Given the description of an element on the screen output the (x, y) to click on. 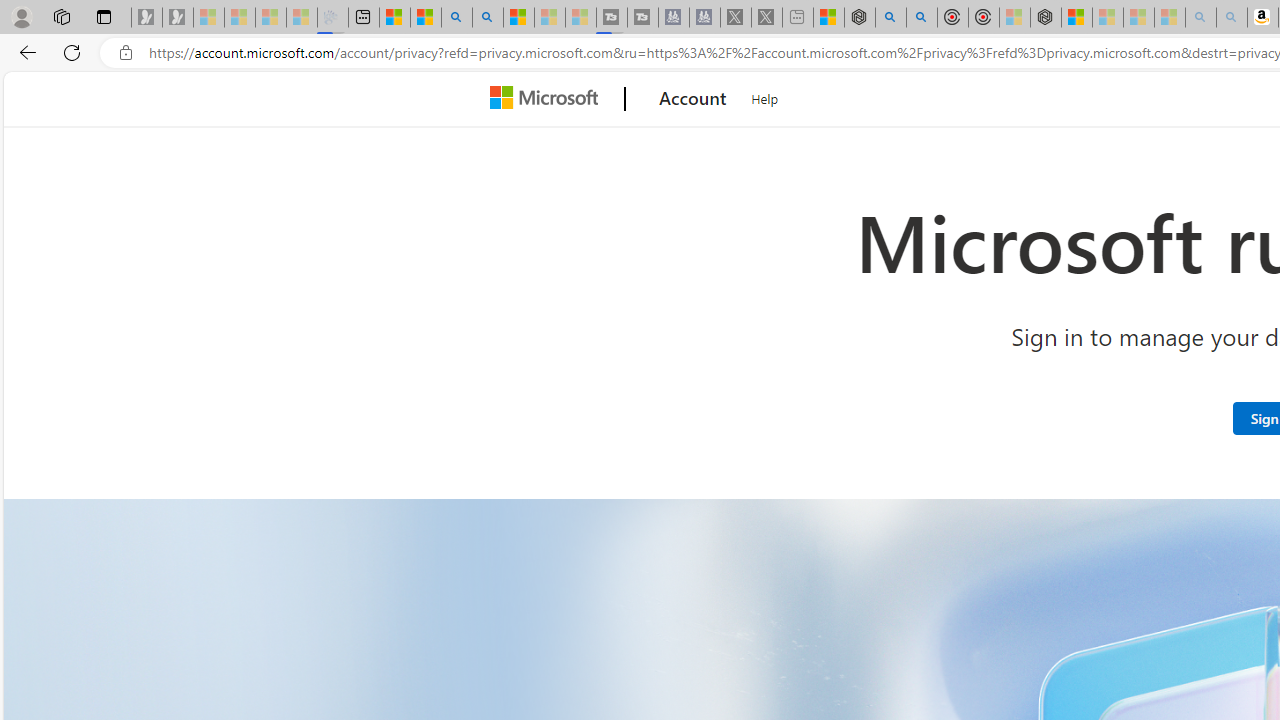
Newsletter Sign Up - Sleeping (177, 17)
Help (765, 96)
Nordace - Nordace Siena Is Not An Ordinary Backpack (1045, 17)
Streaming Coverage | T3 - Sleeping (611, 17)
Help (765, 96)
amazon - Search - Sleeping (1200, 17)
